Given the description of an element on the screen output the (x, y) to click on. 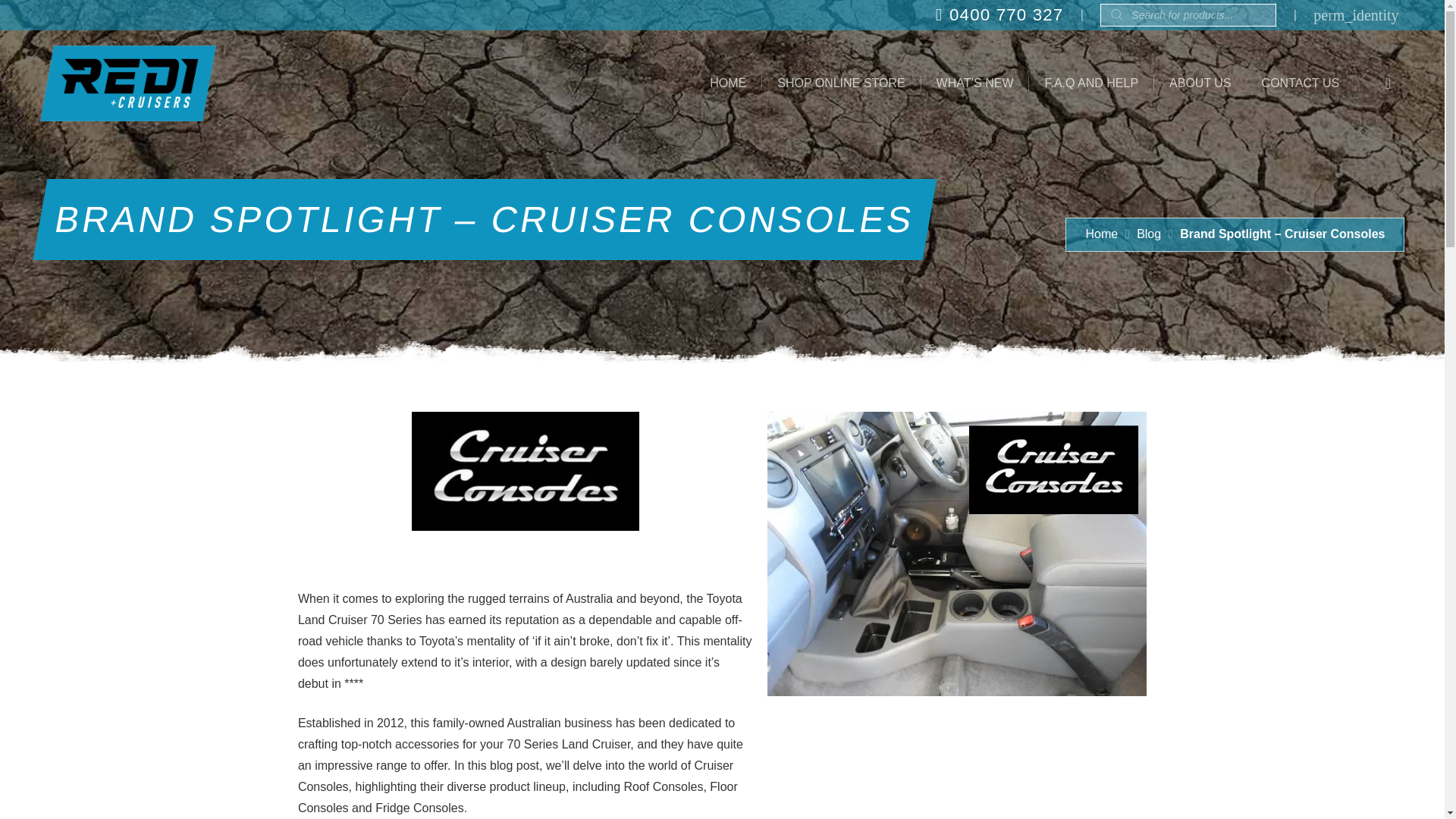
HOME (727, 83)
0400 770 327 (1000, 14)
SHOP ONLINE STORE (840, 83)
